Given the description of an element on the screen output the (x, y) to click on. 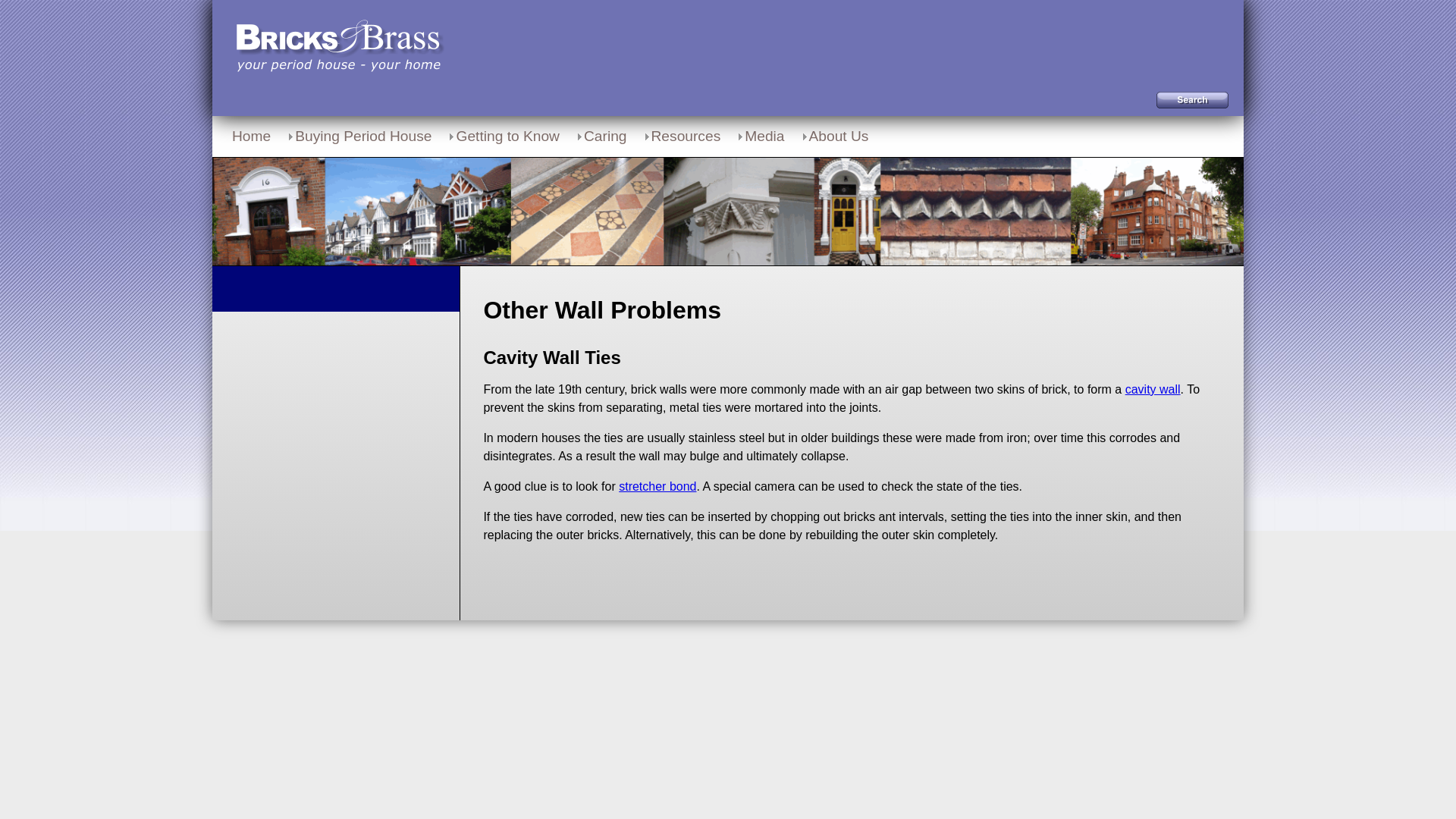
Caring (600, 136)
Getting to Know (503, 136)
Home (251, 136)
Resources (681, 136)
Buying Period House (358, 136)
